Given the description of an element on the screen output the (x, y) to click on. 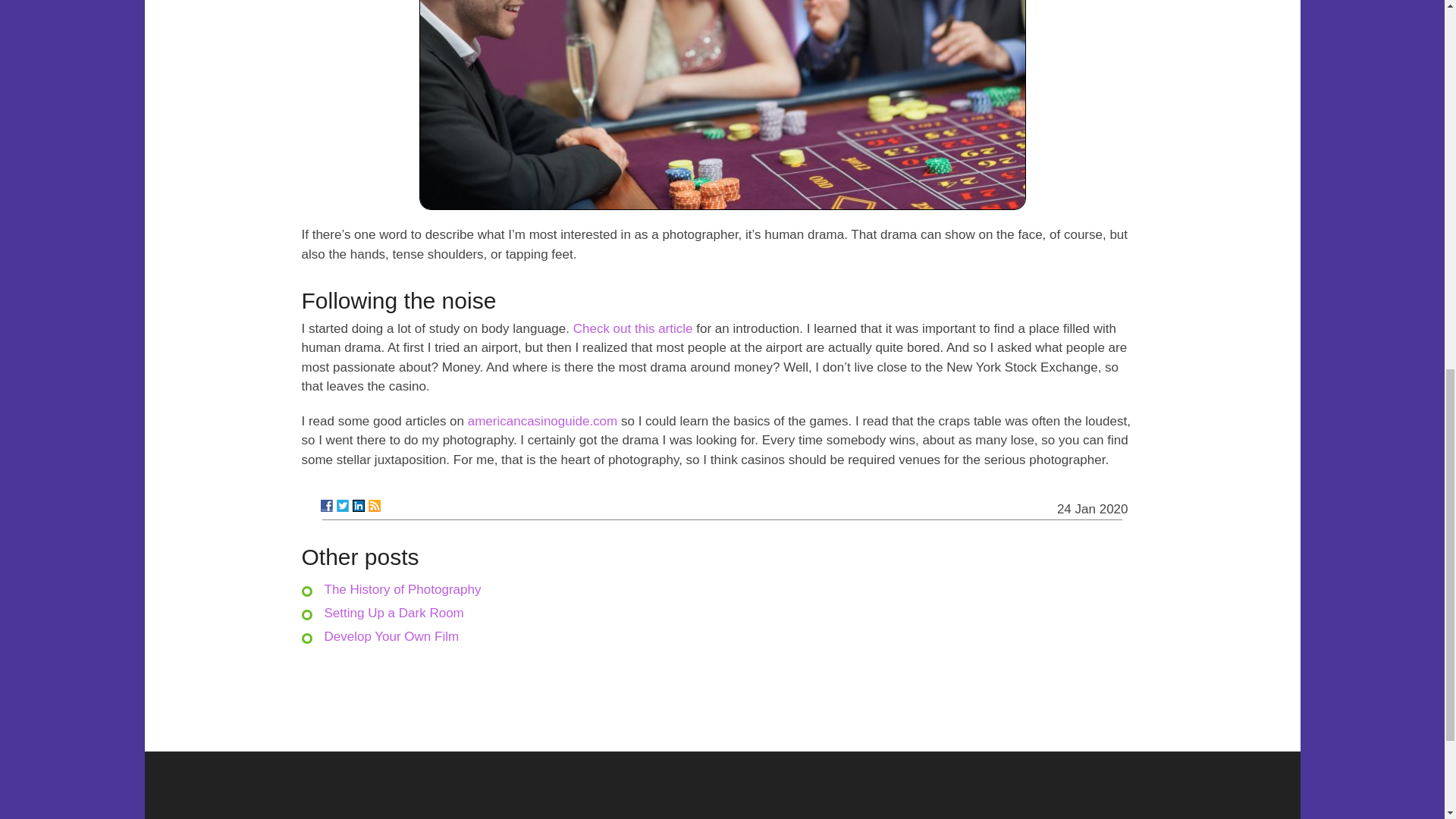
Facebook (325, 505)
americancasinoguide.com (542, 421)
RSS (374, 505)
Setting Up a Dark Room (394, 612)
Twitter (342, 505)
LinkedIn (358, 505)
The History of Photography (402, 589)
Develop Your Own Film (392, 636)
Check out this article (633, 328)
